Given the description of an element on the screen output the (x, y) to click on. 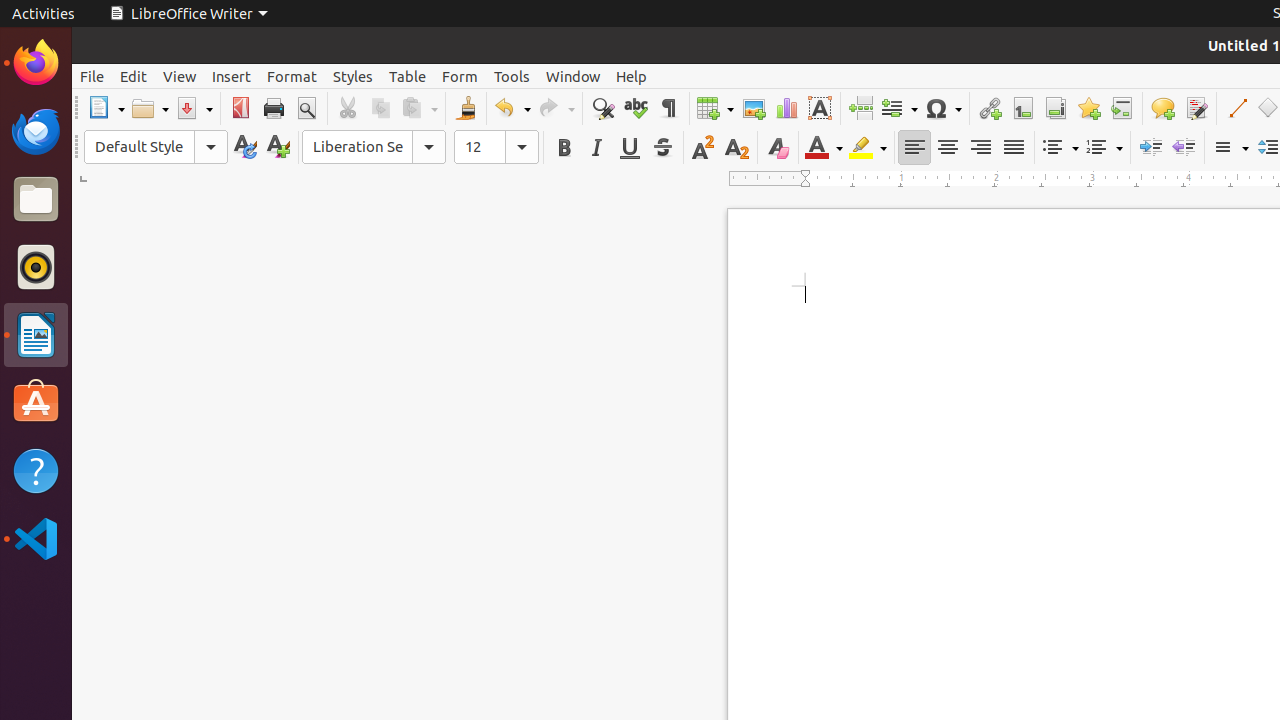
Spelling Element type: push-button (635, 108)
Window Element type: menu (573, 76)
Visual Studio Code Element type: push-button (36, 538)
Endnote Element type: push-button (1055, 108)
